Given the description of an element on the screen output the (x, y) to click on. 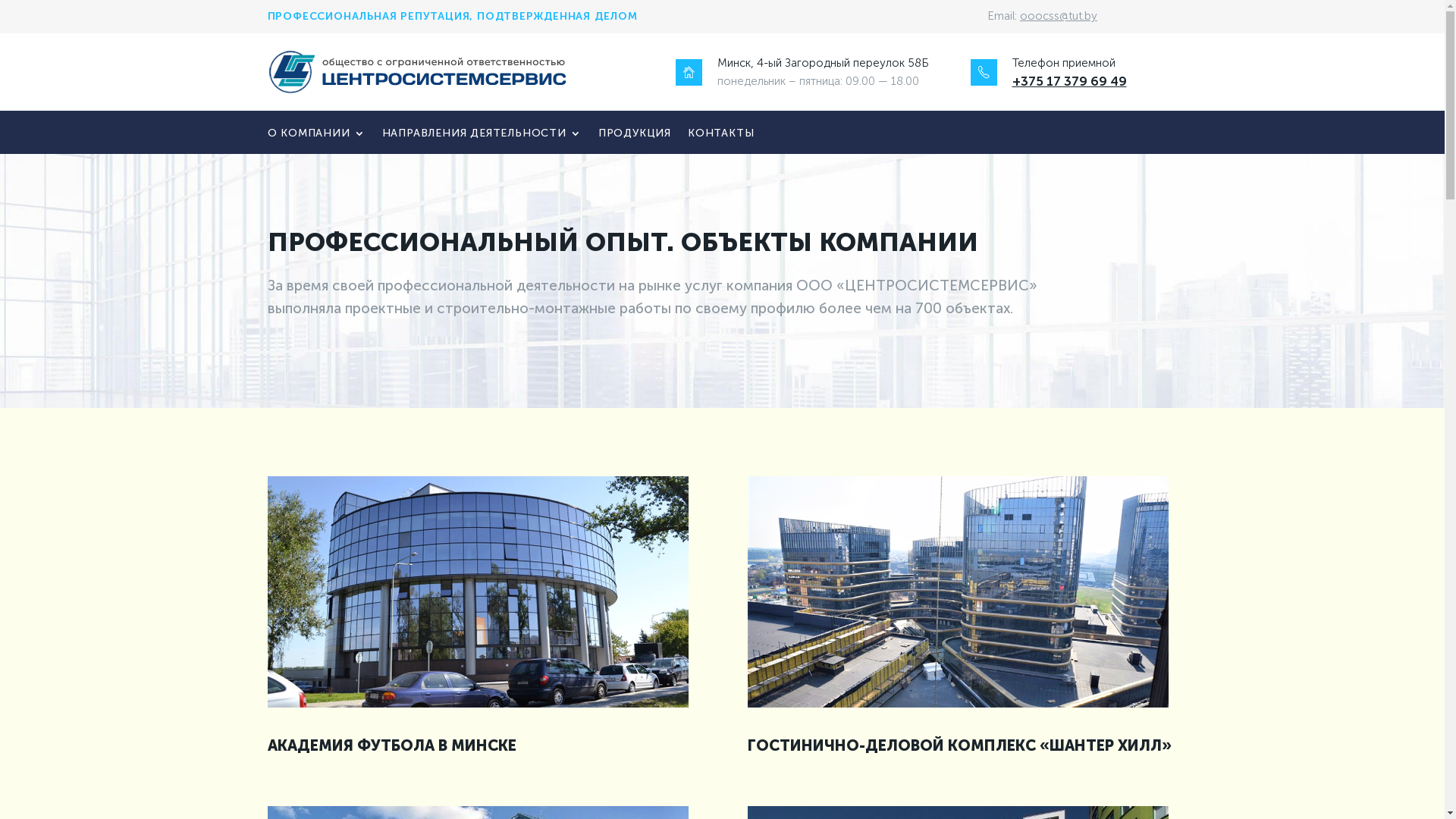
logo_new2 Element type: hover (417, 71)
no1 Element type: hover (476, 591)
+375 17 379 69 49 Element type: text (1068, 80)
ooocss@tut.by Element type: text (1058, 15)
no2 Element type: hover (957, 591)
